Given the description of an element on the screen output the (x, y) to click on. 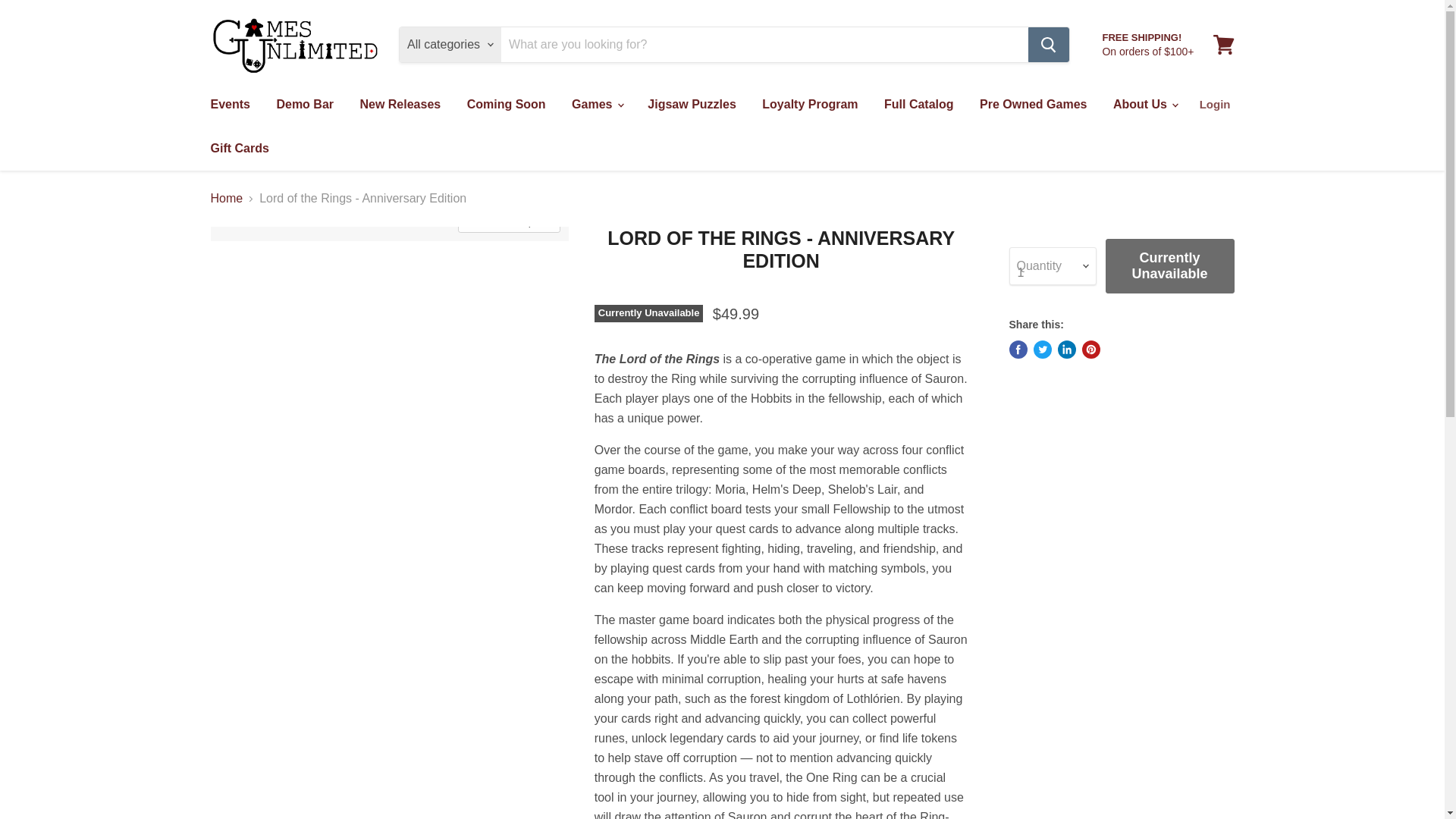
Demo Bar (304, 104)
New Releases (399, 104)
Events (229, 104)
View cart (1223, 44)
About Us (1145, 104)
Coming Soon (506, 104)
Pre Owned Games (1032, 104)
Full Catalog (918, 104)
Loyalty Program (810, 104)
Jigsaw Puzzles (692, 104)
